Given the description of an element on the screen output the (x, y) to click on. 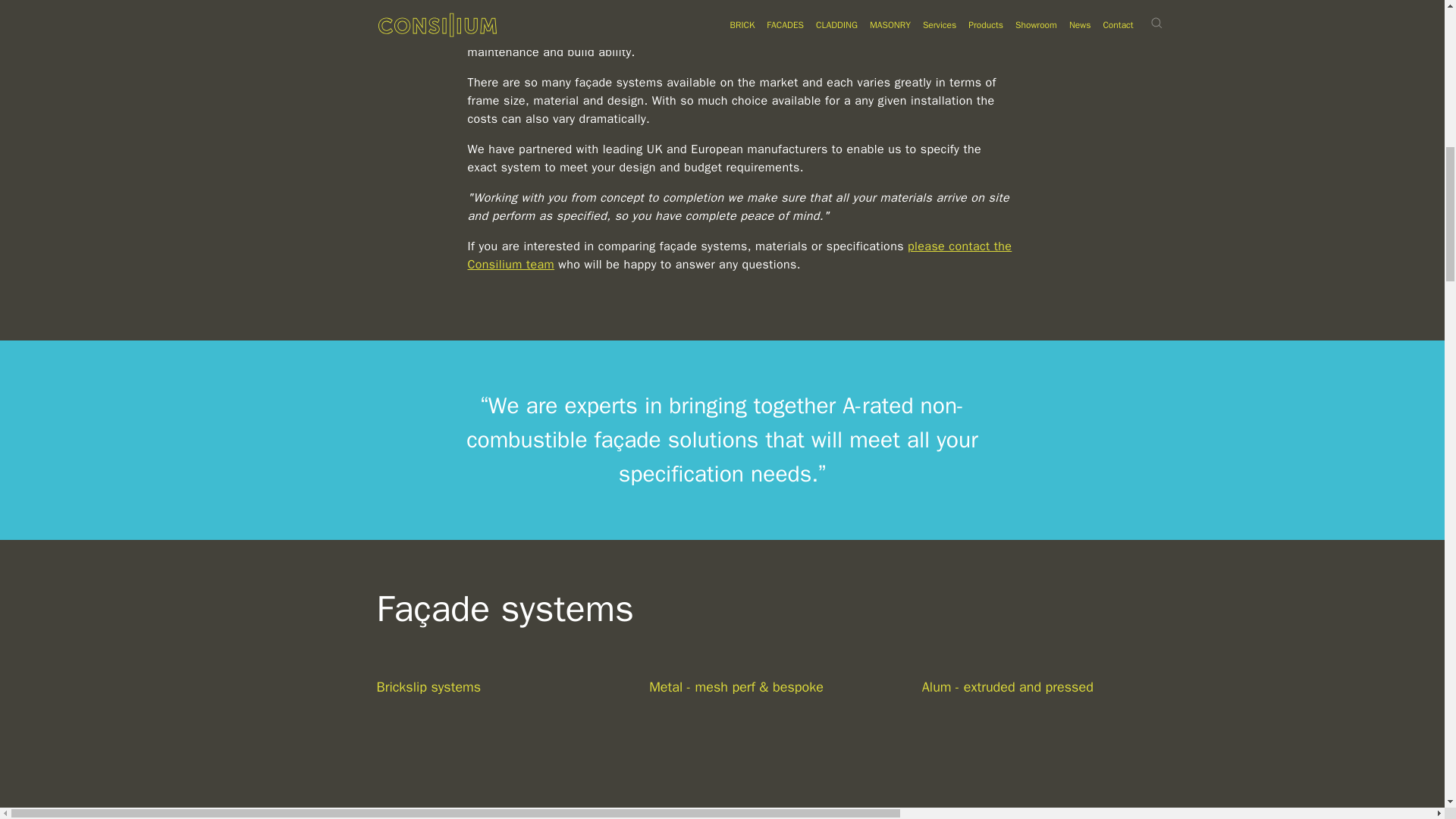
Alum - extruded and pressed (1039, 728)
Brickslip systems (493, 728)
please contact the Consilium team (739, 255)
